Given the description of an element on the screen output the (x, y) to click on. 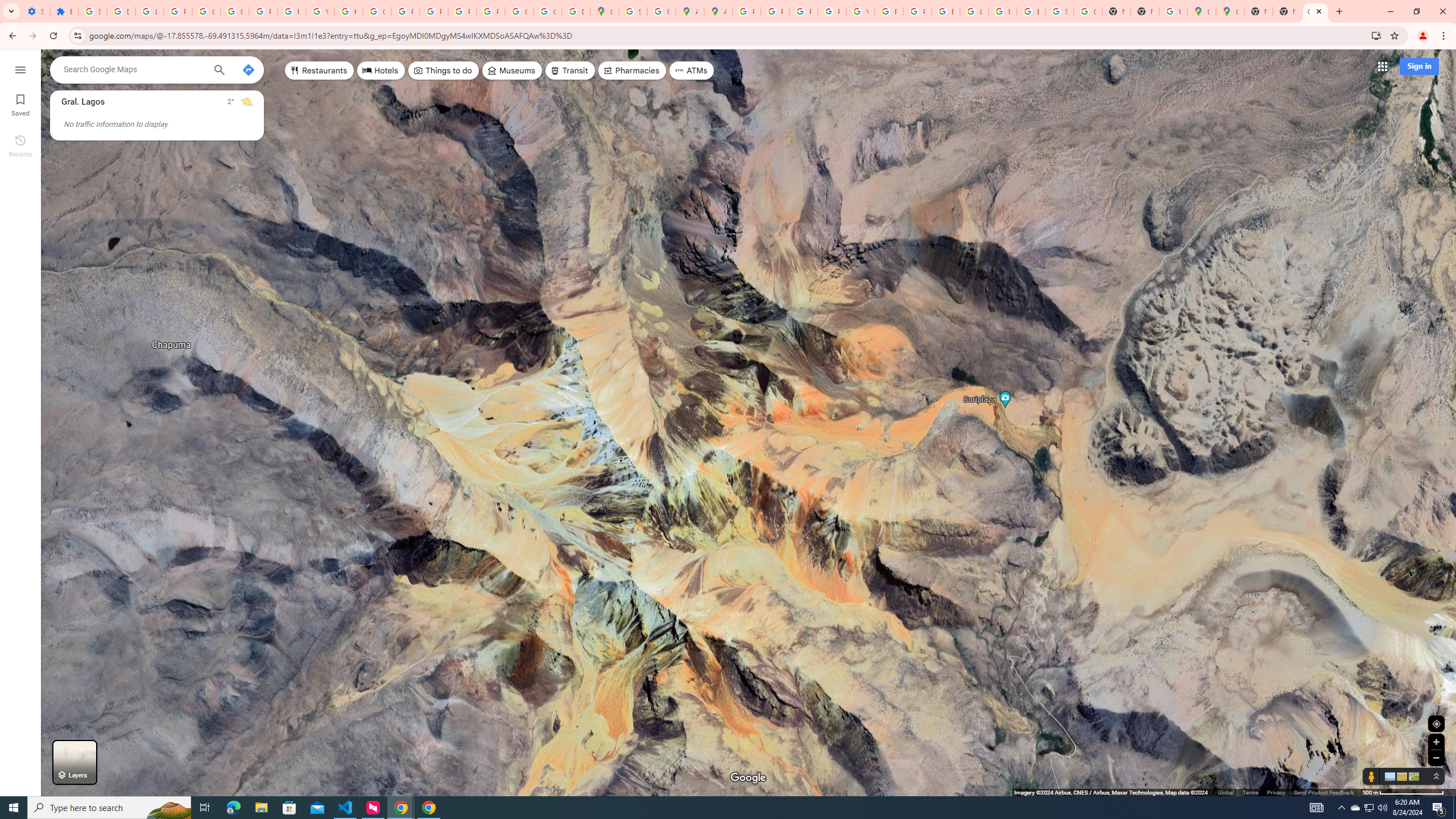
500 m (1403, 792)
Learn how to find your photos - Google Photos Help (148, 11)
Privacy Help Center - Policies Help (405, 11)
Search Google Maps (133, 69)
Settings - On startup (35, 11)
Delete photos & videos - Computer - Google Photos Help (120, 11)
Recents (20, 145)
Mostly cloudy (246, 101)
New Tab (1287, 11)
